Given the description of an element on the screen output the (x, y) to click on. 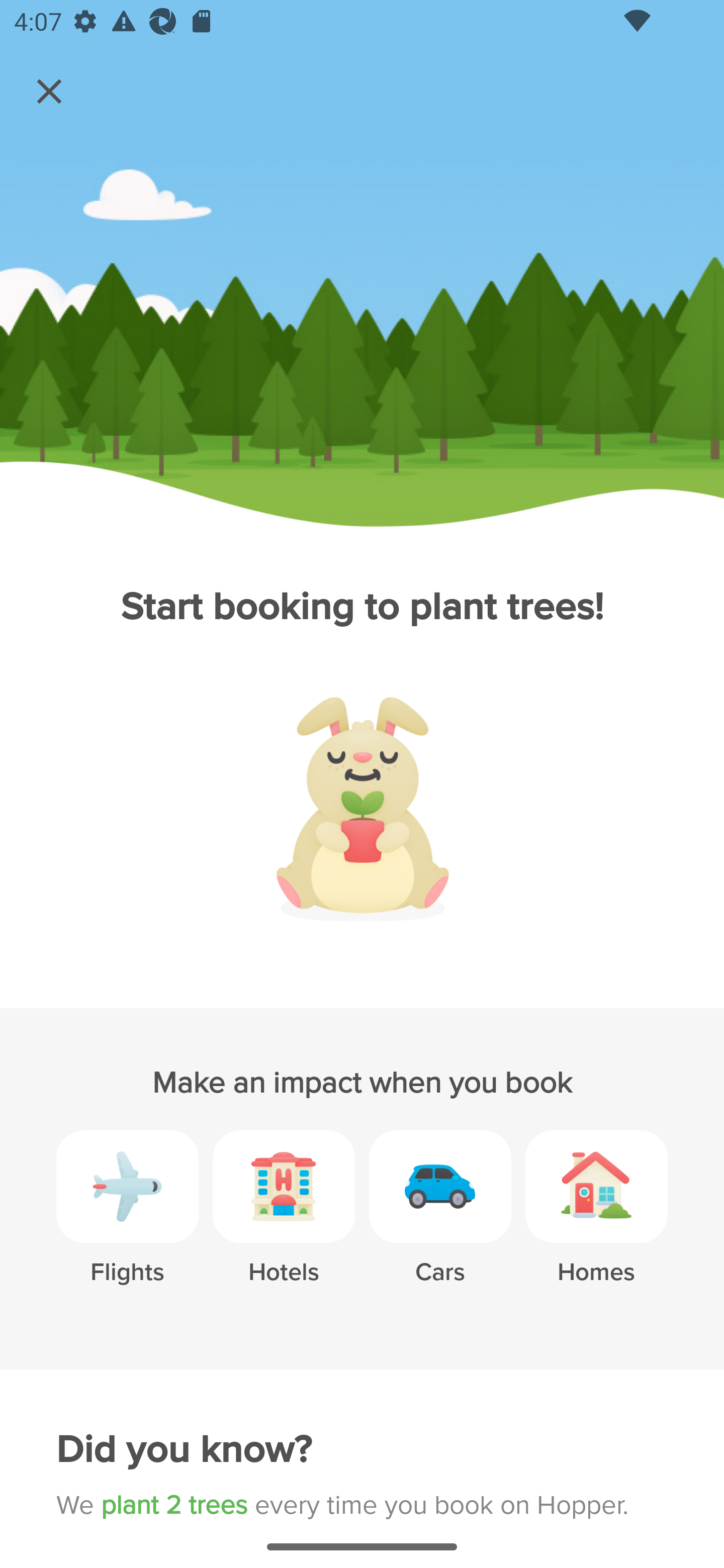
Navigate up (49, 91)
Flights (127, 1221)
Hotels (283, 1221)
Cars (440, 1221)
Homes (596, 1221)
